Given the description of an element on the screen output the (x, y) to click on. 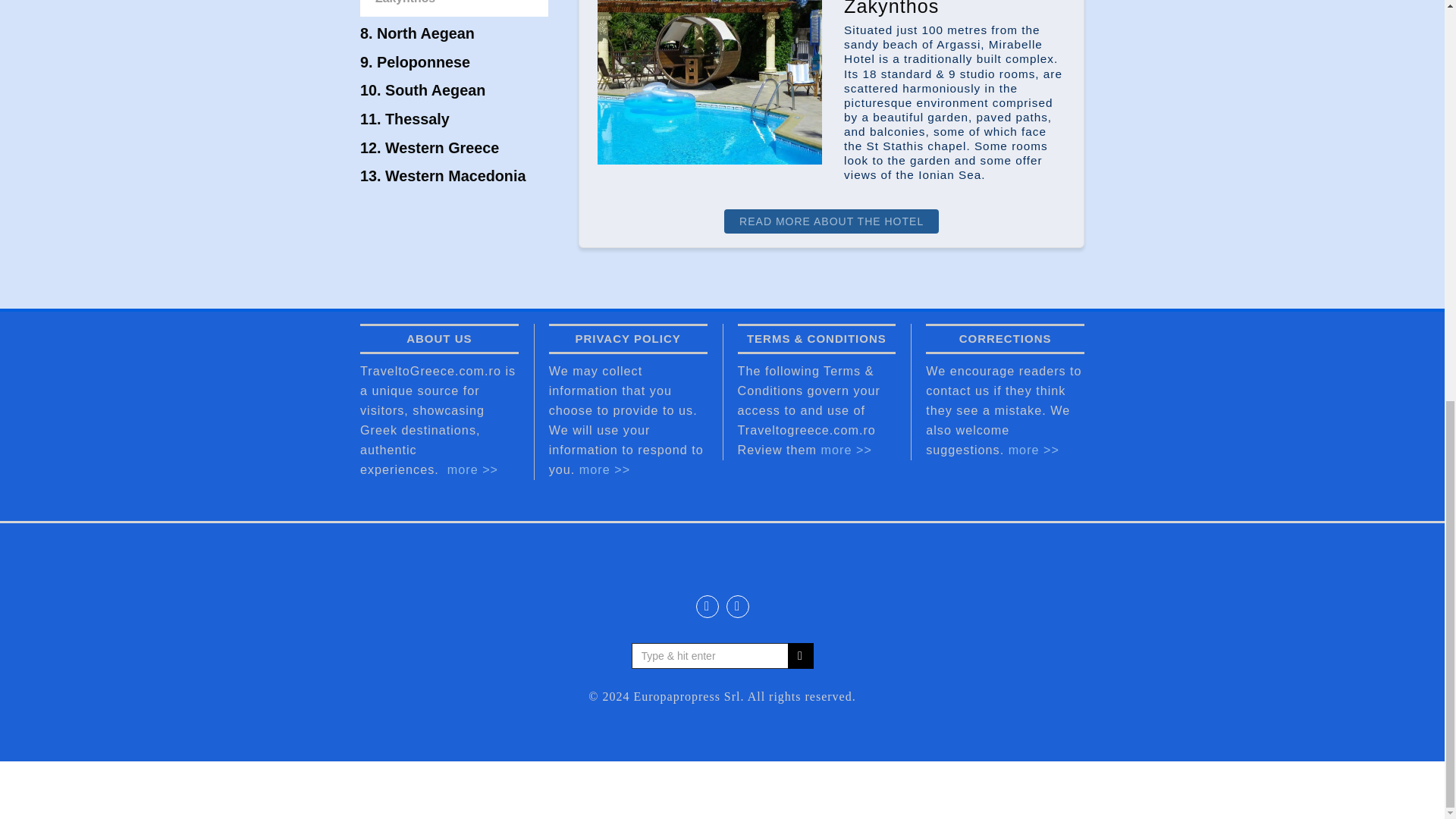
Twitter (707, 606)
Pinterest (737, 606)
Go (799, 655)
